Given the description of an element on the screen output the (x, y) to click on. 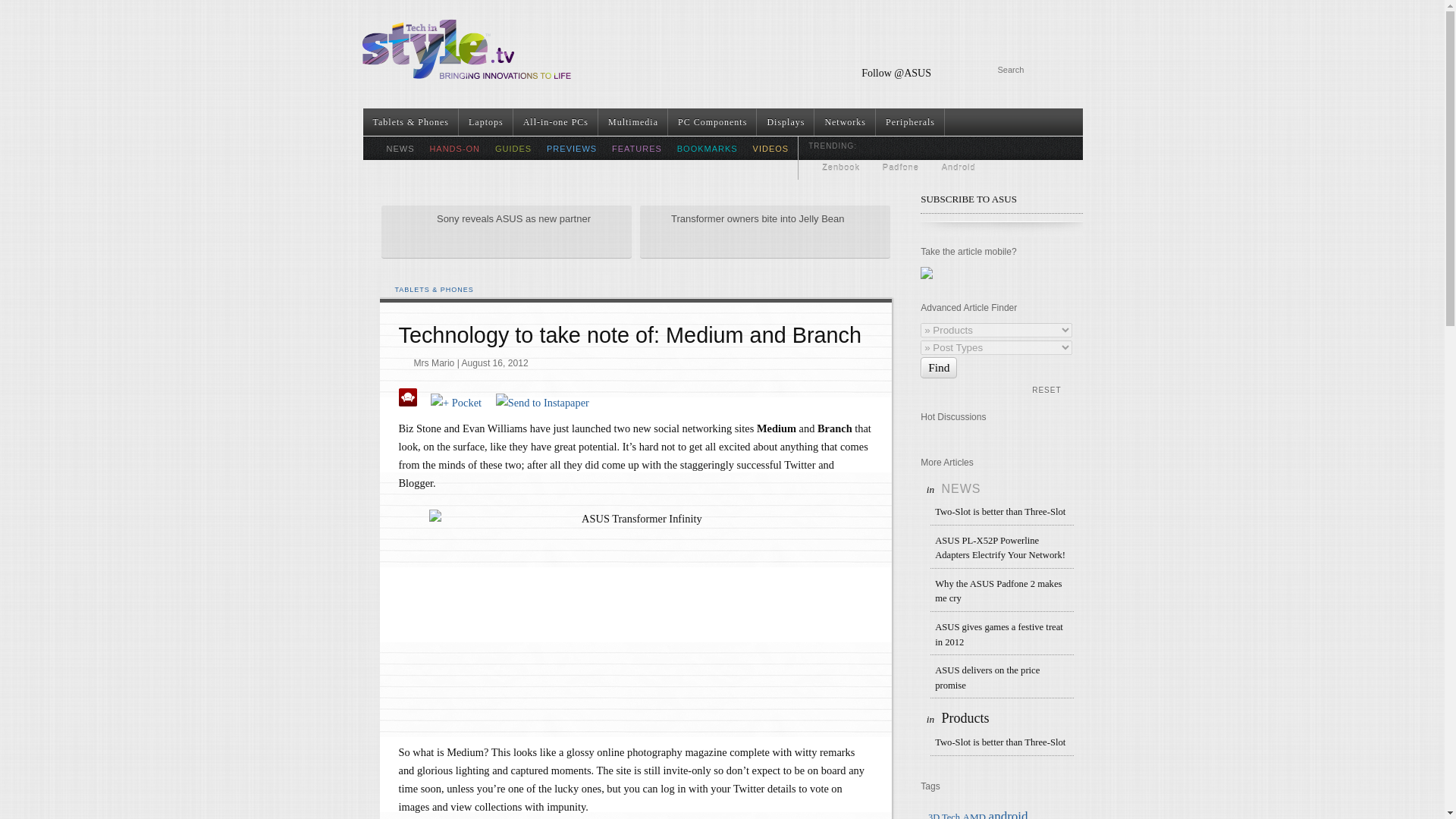
NEWS (400, 148)
Padfone (900, 167)
Networks (844, 121)
Mrs Mario (433, 363)
Reset (1038, 390)
HANDS-ON (454, 148)
Posts by Mrs Mario (433, 363)
Android (958, 167)
GUIDES (513, 148)
Laptops (485, 121)
Reset (1038, 390)
Zenbook (840, 167)
Displays (785, 121)
Multimedia (633, 121)
All-in-one PCs (555, 121)
